Given the description of an element on the screen output the (x, y) to click on. 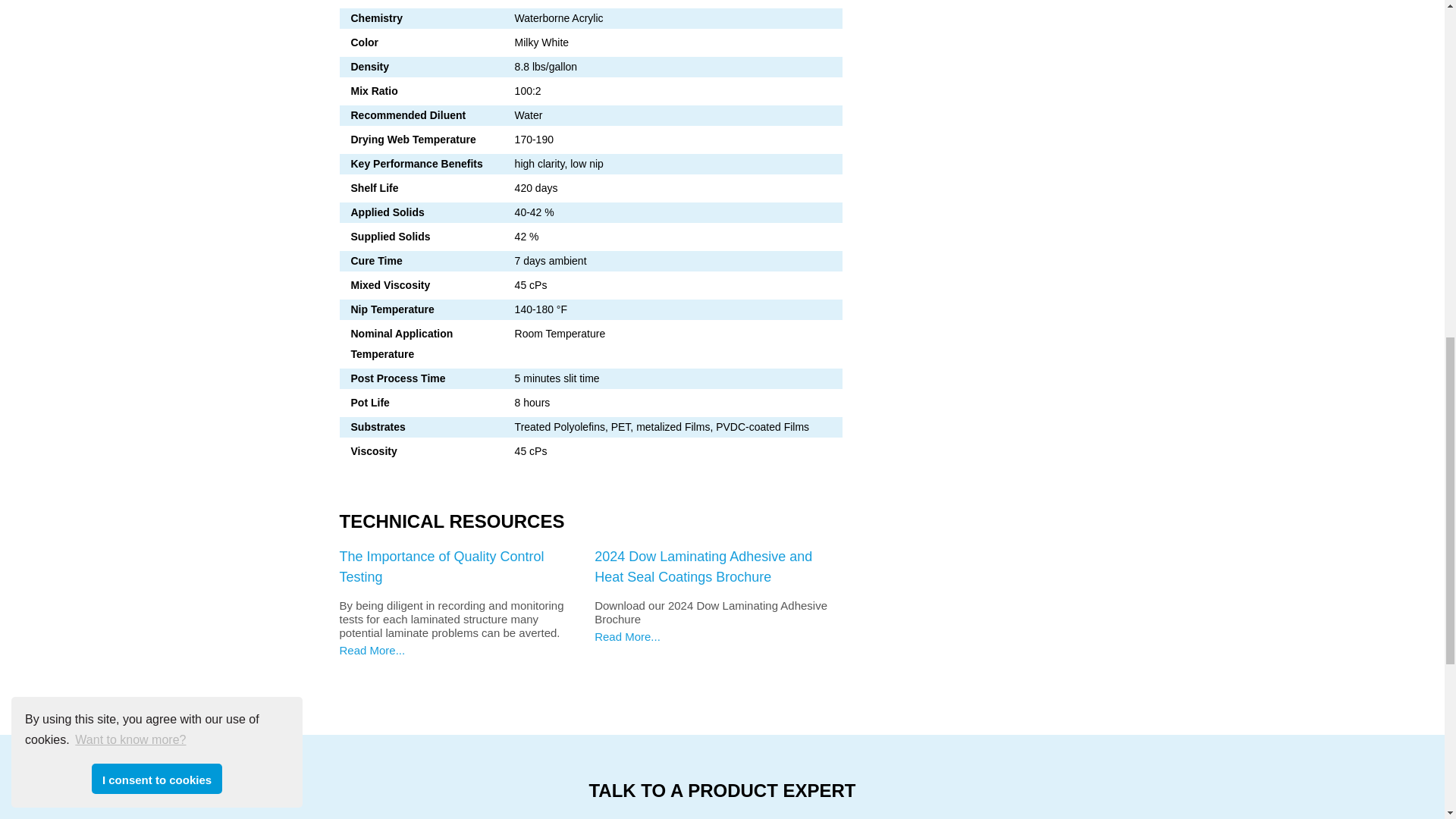
Read More... (372, 649)
The Importance of Quality Control Testing (441, 566)
2024 Dow Laminating Adhesive and Heat Seal Coatings Brochure (703, 566)
